Given the description of an element on the screen output the (x, y) to click on. 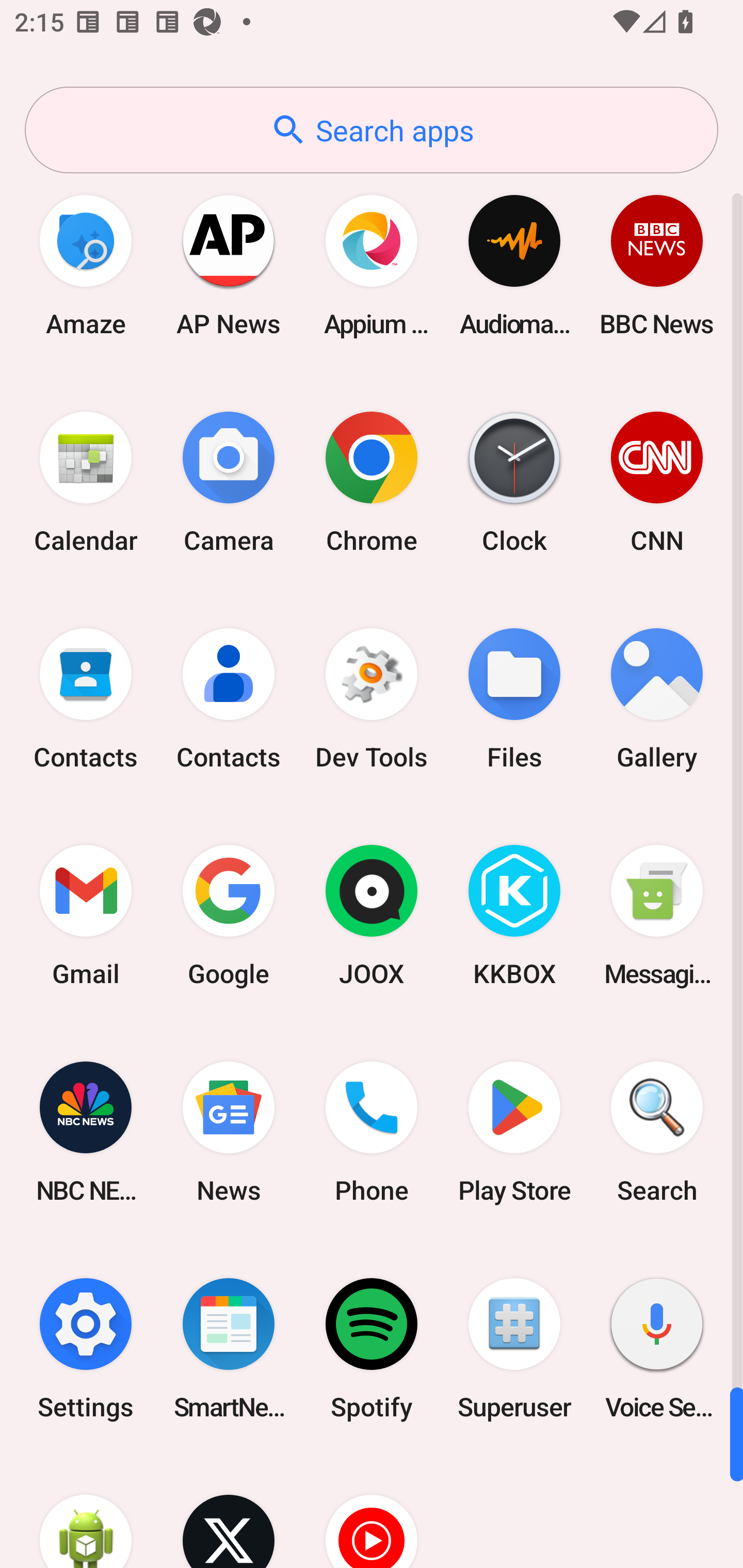
  Search apps (371, 130)
Amaze (85, 264)
AP News (228, 264)
Appium Settings (371, 264)
Audio­mack (514, 264)
BBC News (656, 264)
Calendar (85, 482)
Camera (228, 482)
Chrome (371, 482)
Clock (514, 482)
CNN (656, 482)
Contacts (85, 699)
Contacts (228, 699)
Dev Tools (371, 699)
Files (514, 699)
Gallery (656, 699)
Gmail (85, 915)
Google (228, 915)
JOOX (371, 915)
KKBOX (514, 915)
Messaging (656, 915)
NBC NEWS (85, 1131)
News (228, 1131)
Phone (371, 1131)
Play Store (514, 1131)
Search (656, 1131)
Settings (85, 1348)
SmartNews (228, 1348)
Spotify (371, 1348)
Superuser (514, 1348)
Voice Search (656, 1348)
WebView Browser Tester (85, 1512)
X (228, 1512)
YT Music (371, 1512)
